Given the description of an element on the screen output the (x, y) to click on. 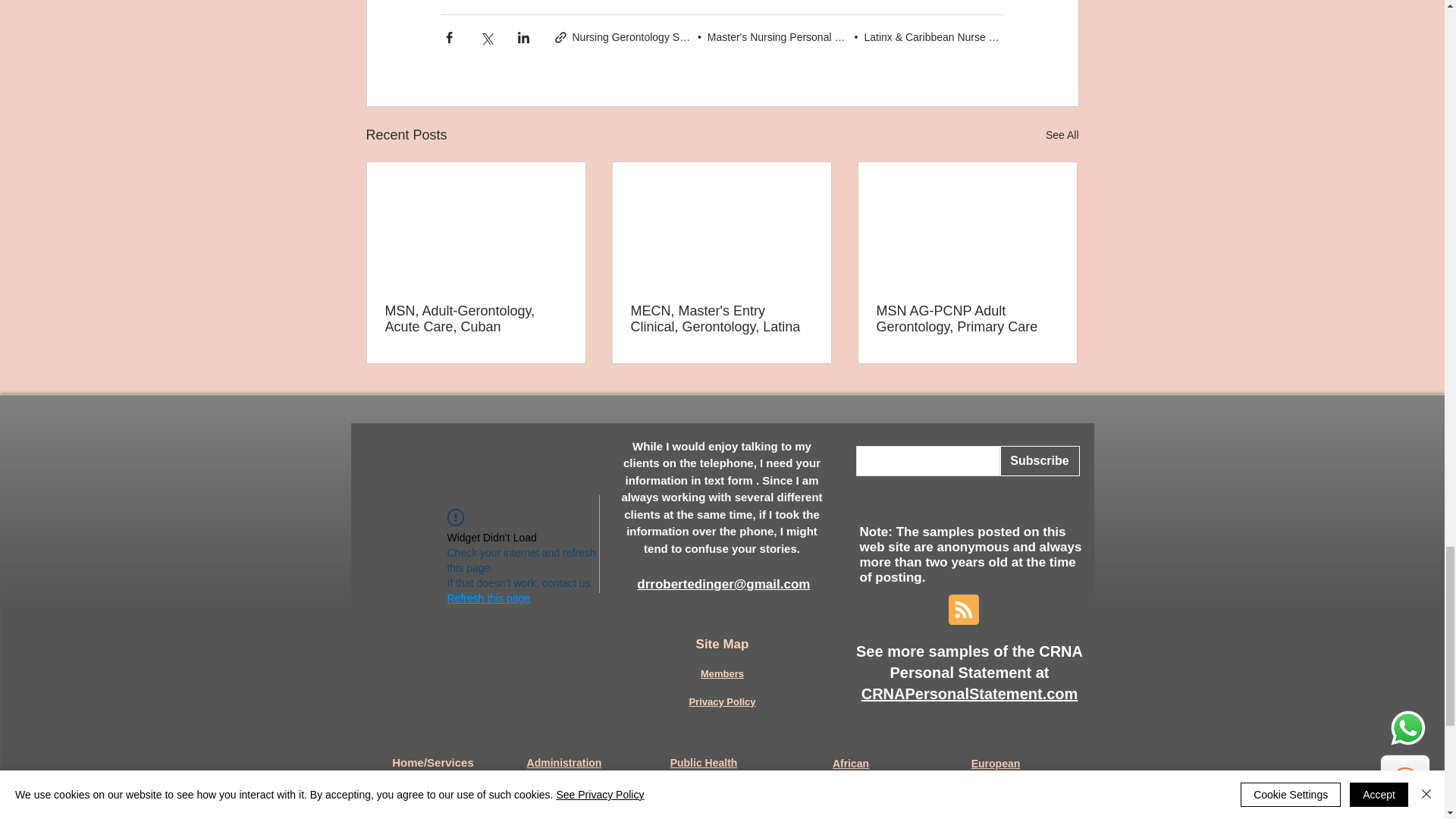
Embedded Content (474, 595)
